Given the description of an element on the screen output the (x, y) to click on. 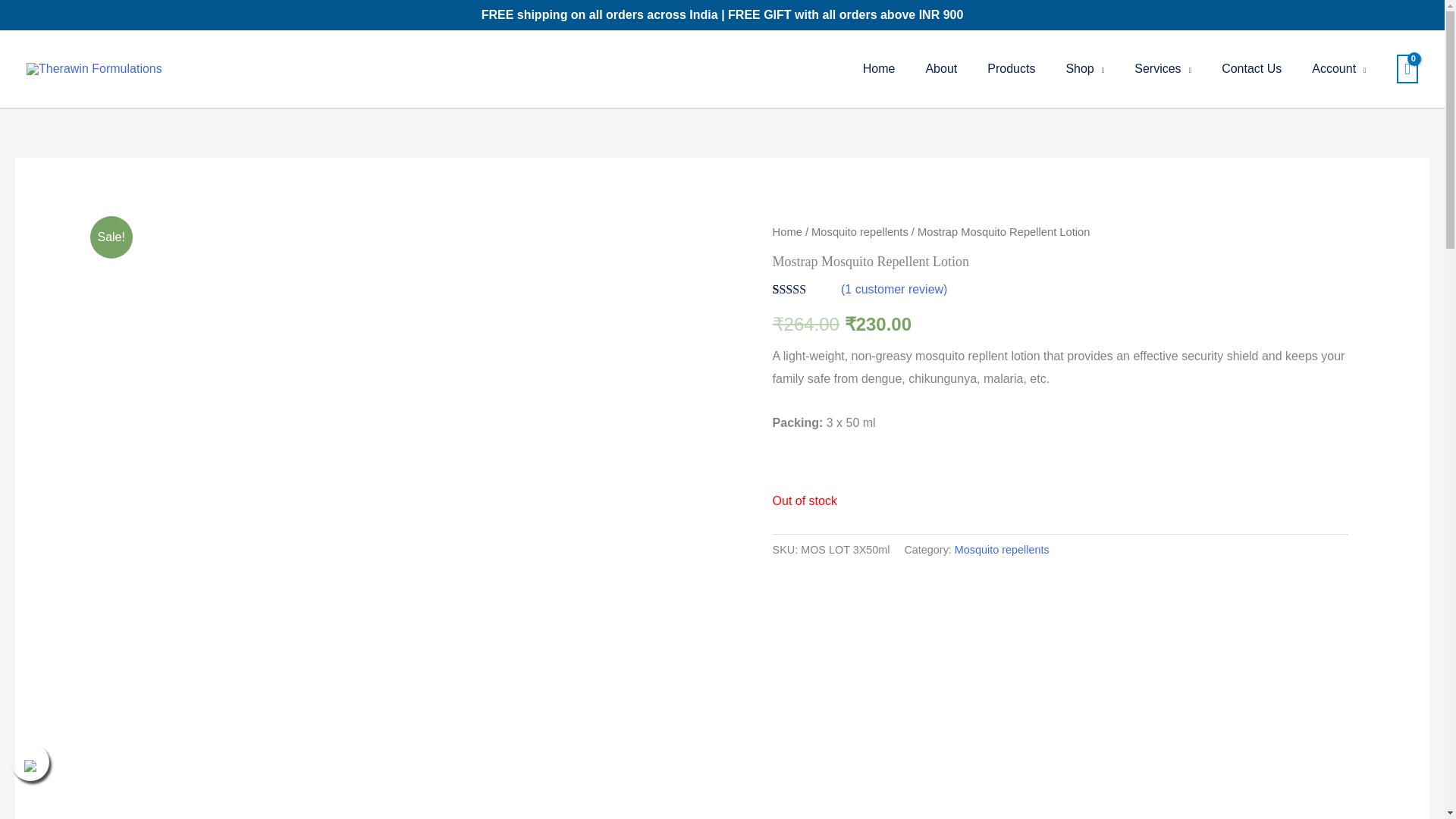
Home (879, 68)
About (941, 68)
Account (1338, 68)
Products (1010, 68)
Services (1163, 68)
Contact Us (1252, 68)
Shop (1084, 68)
